Given the description of an element on the screen output the (x, y) to click on. 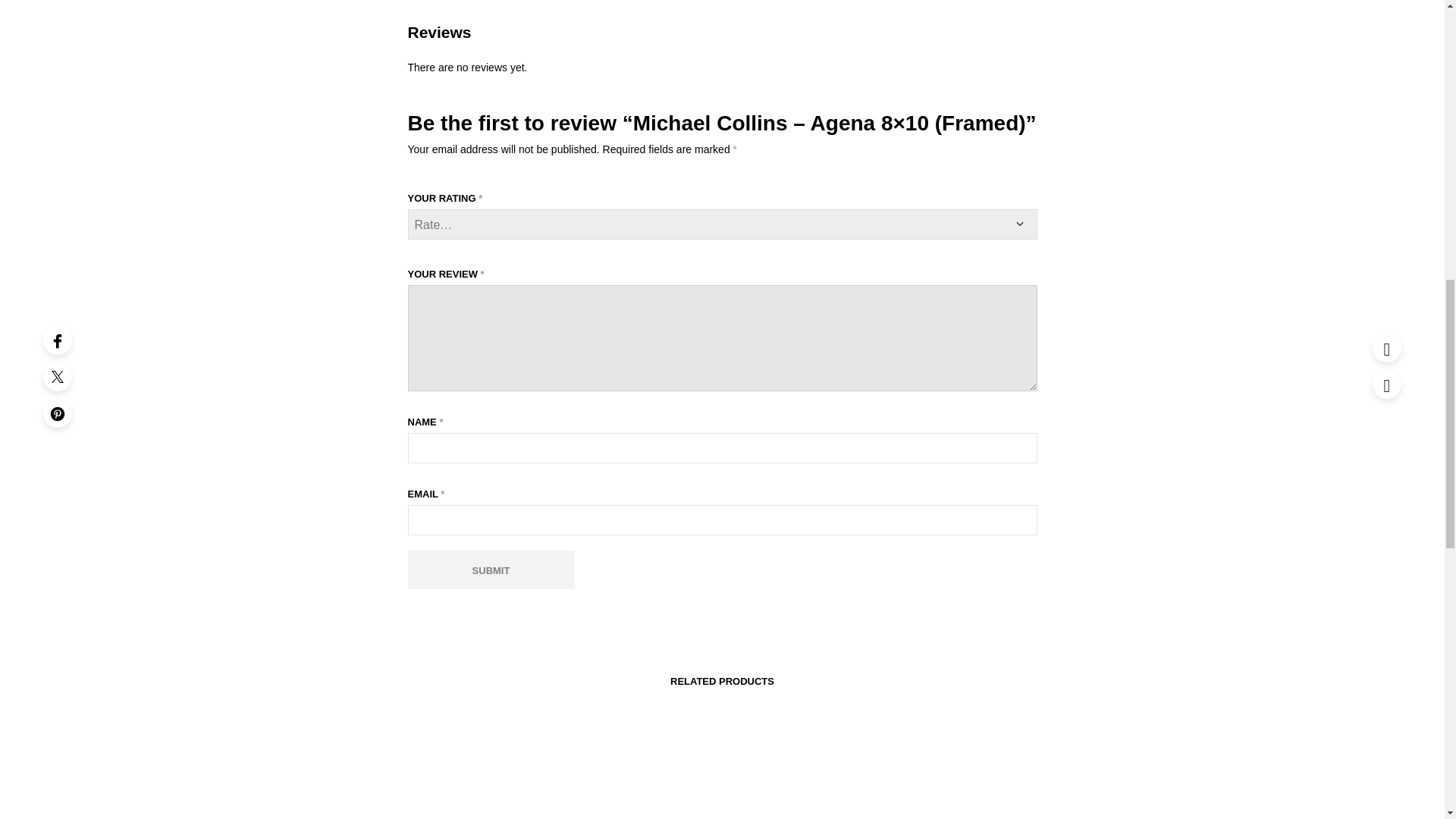
Submit (491, 569)
